Given the description of an element on the screen output the (x, y) to click on. 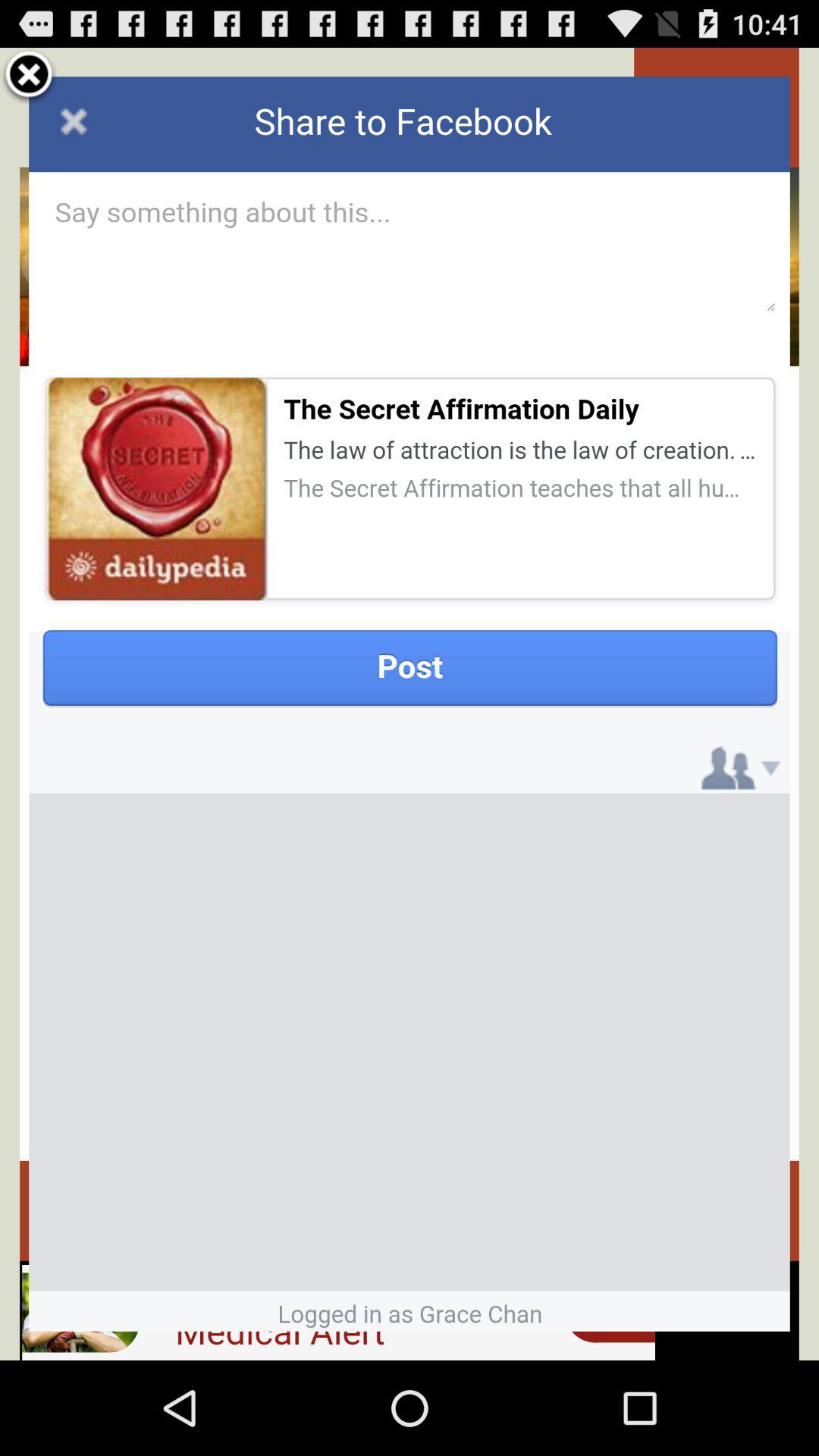
go to facebook post page (409, 703)
